Given the description of an element on the screen output the (x, y) to click on. 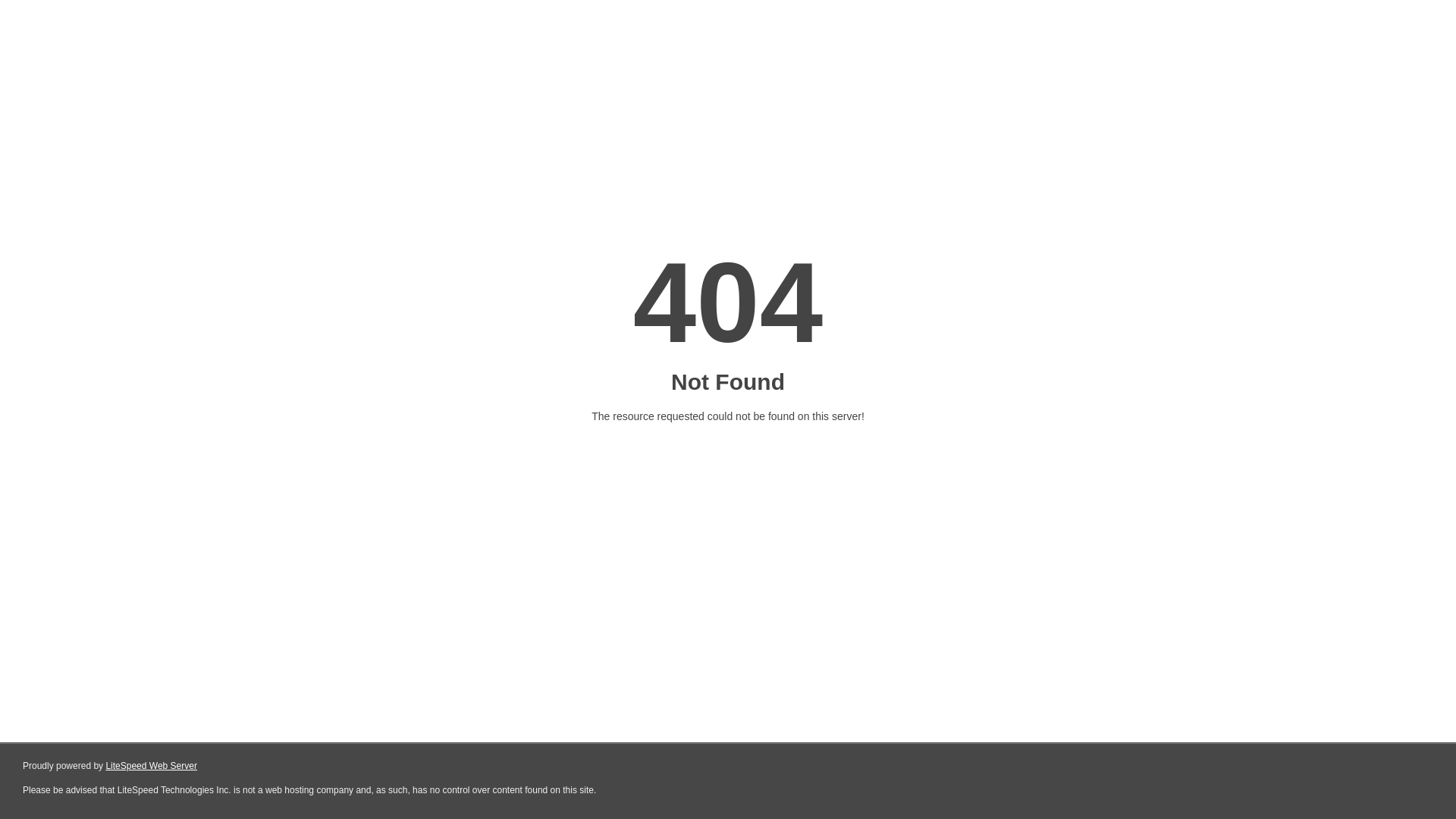
LiteSpeed Web Server Element type: text (151, 765)
